Given the description of an element on the screen output the (x, y) to click on. 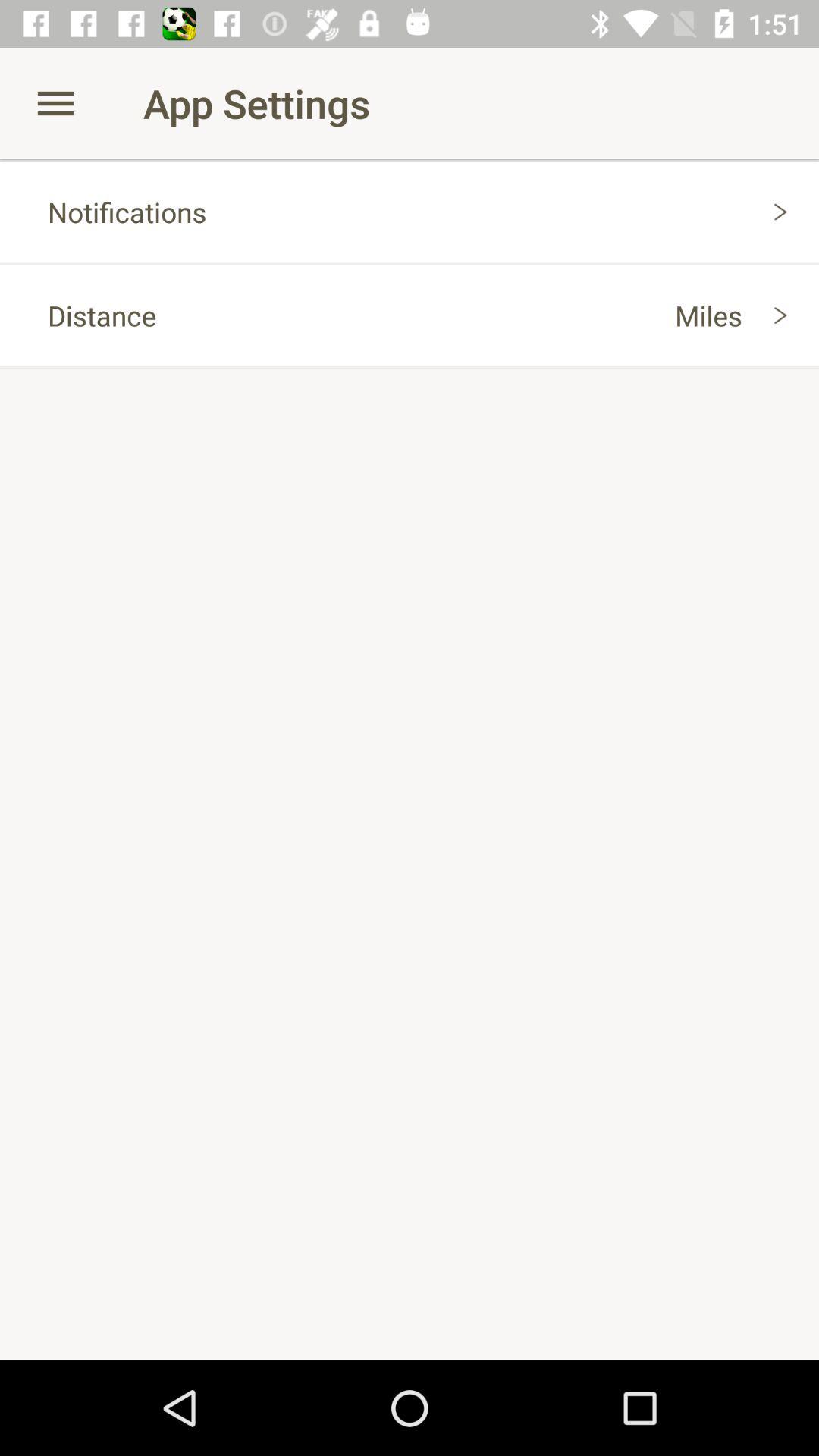
click item above the distance icon (409, 211)
